Given the description of an element on the screen output the (x, y) to click on. 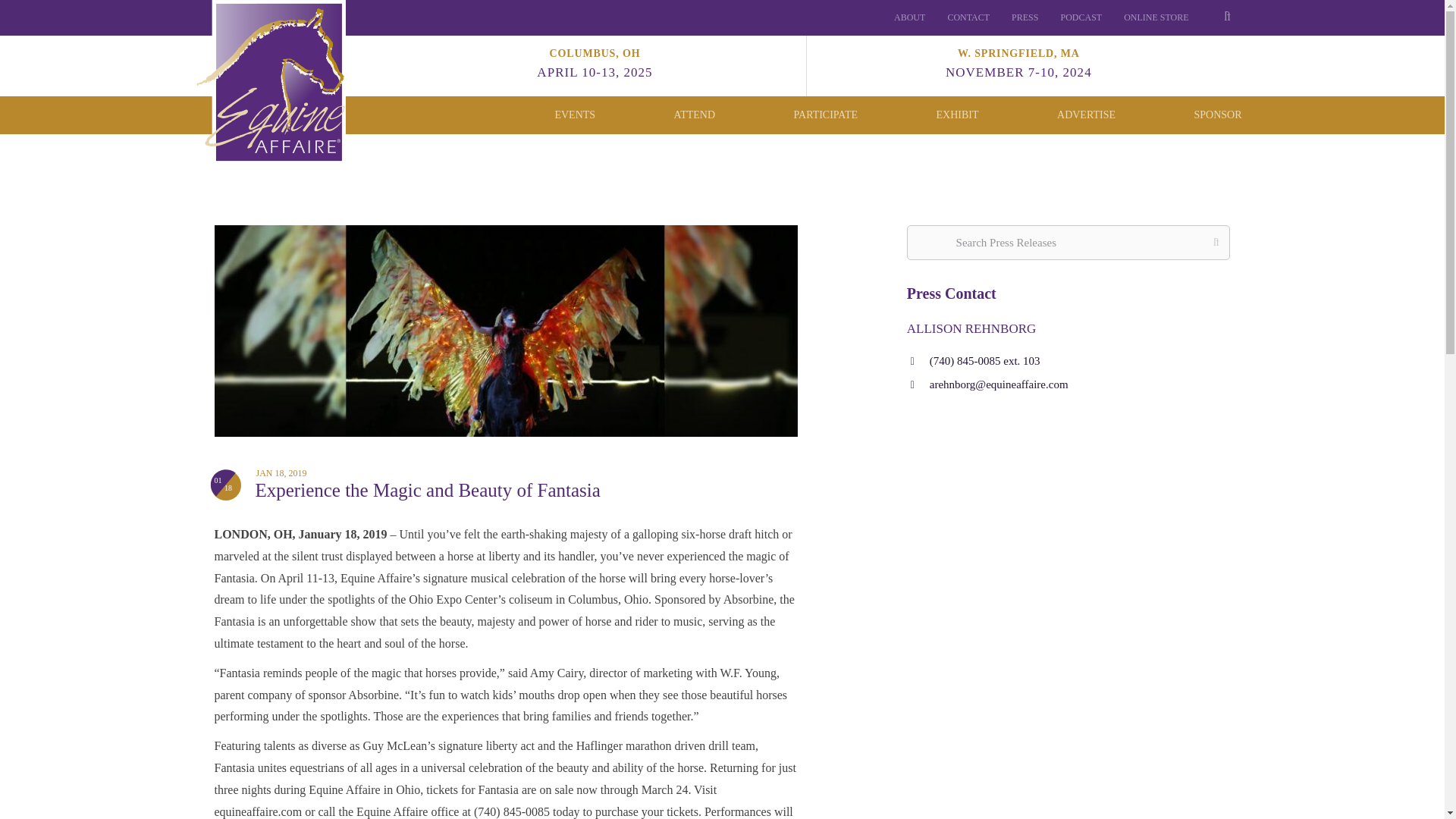
ATTEND (694, 114)
ABOUT (595, 63)
PODCAST (908, 17)
PRESS (1080, 17)
CONTACT (1024, 17)
EVENTS (967, 17)
ONLINE STORE (574, 114)
